Given the description of an element on the screen output the (x, y) to click on. 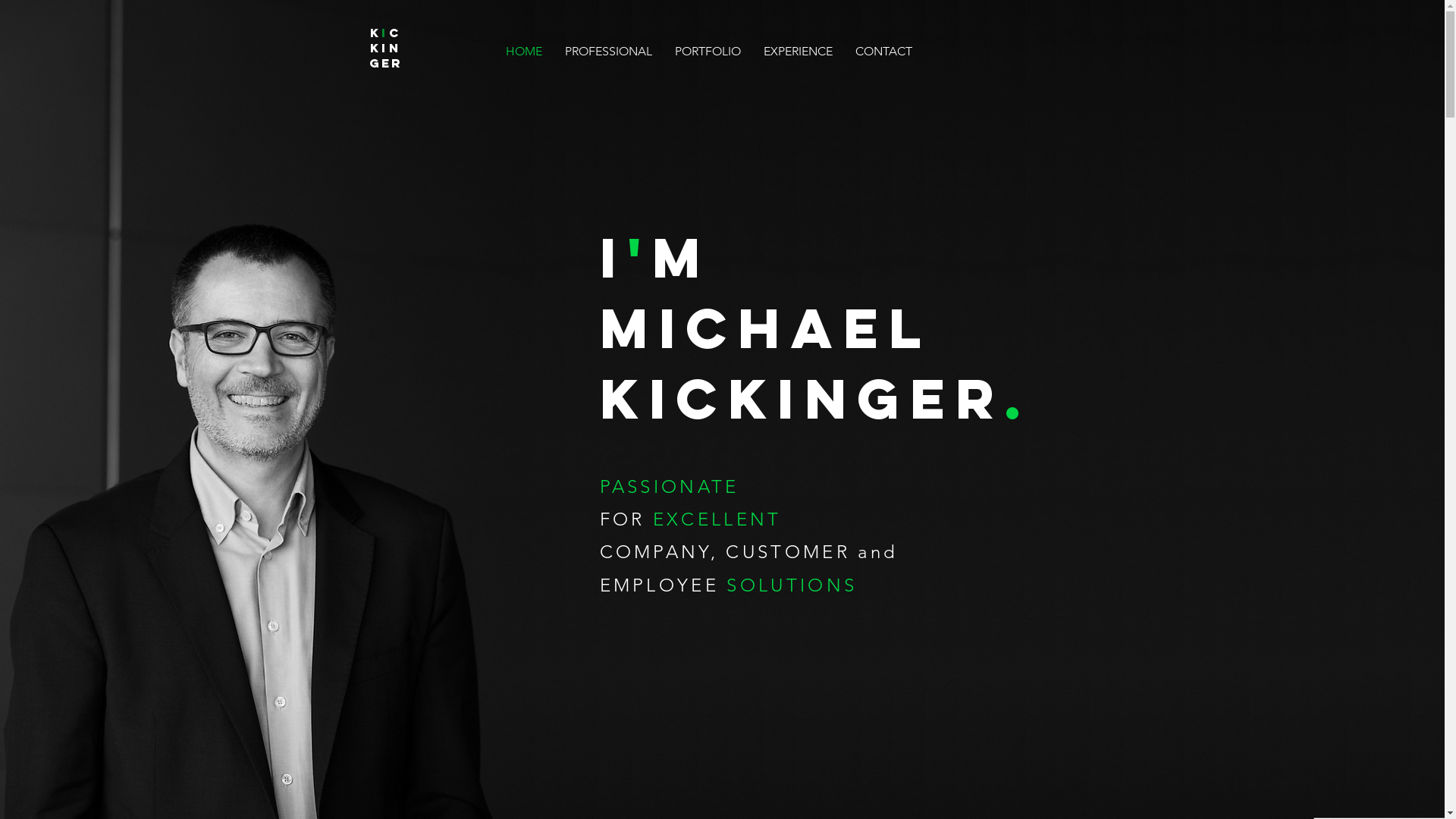
EXPERIENCE Element type: text (798, 51)
HOME Element type: text (523, 51)
CONTACT Element type: text (882, 51)
PROFESSIONAL Element type: text (608, 51)
PORTFOLIO Element type: text (706, 51)
